Given the description of an element on the screen output the (x, y) to click on. 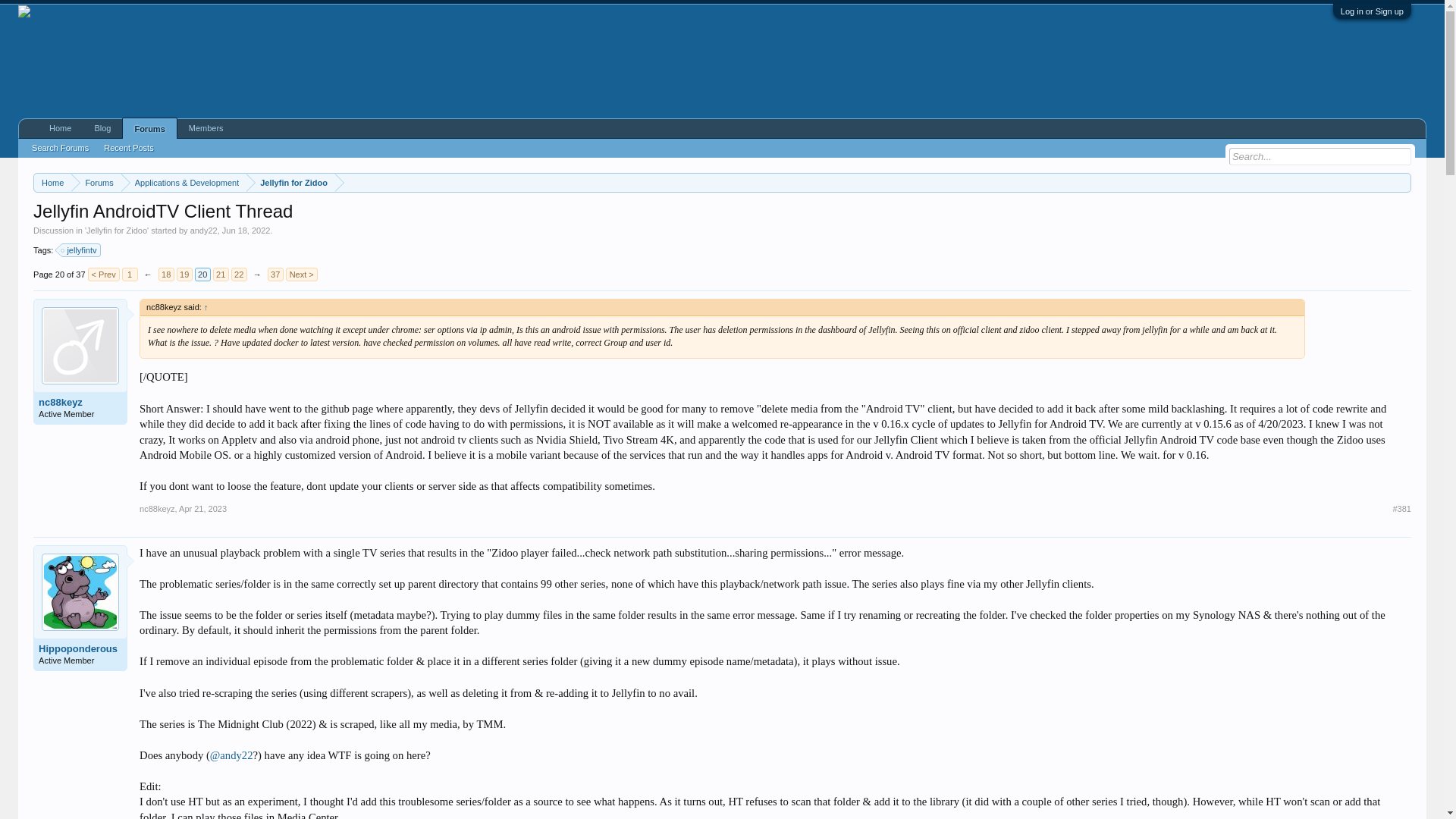
21 (220, 274)
18 (166, 274)
Jun 18, 2022 (246, 230)
andy22 (203, 230)
Open quick navigation (1401, 182)
Jellyfin for Zidoo (116, 230)
Log in or Sign up (1371, 10)
37 (275, 274)
jellyfintv (81, 250)
Apr 21, 2023 (203, 508)
Permalink (203, 508)
20 (203, 274)
Forums (95, 182)
Home (52, 182)
1 (130, 274)
